Given the description of an element on the screen output the (x, y) to click on. 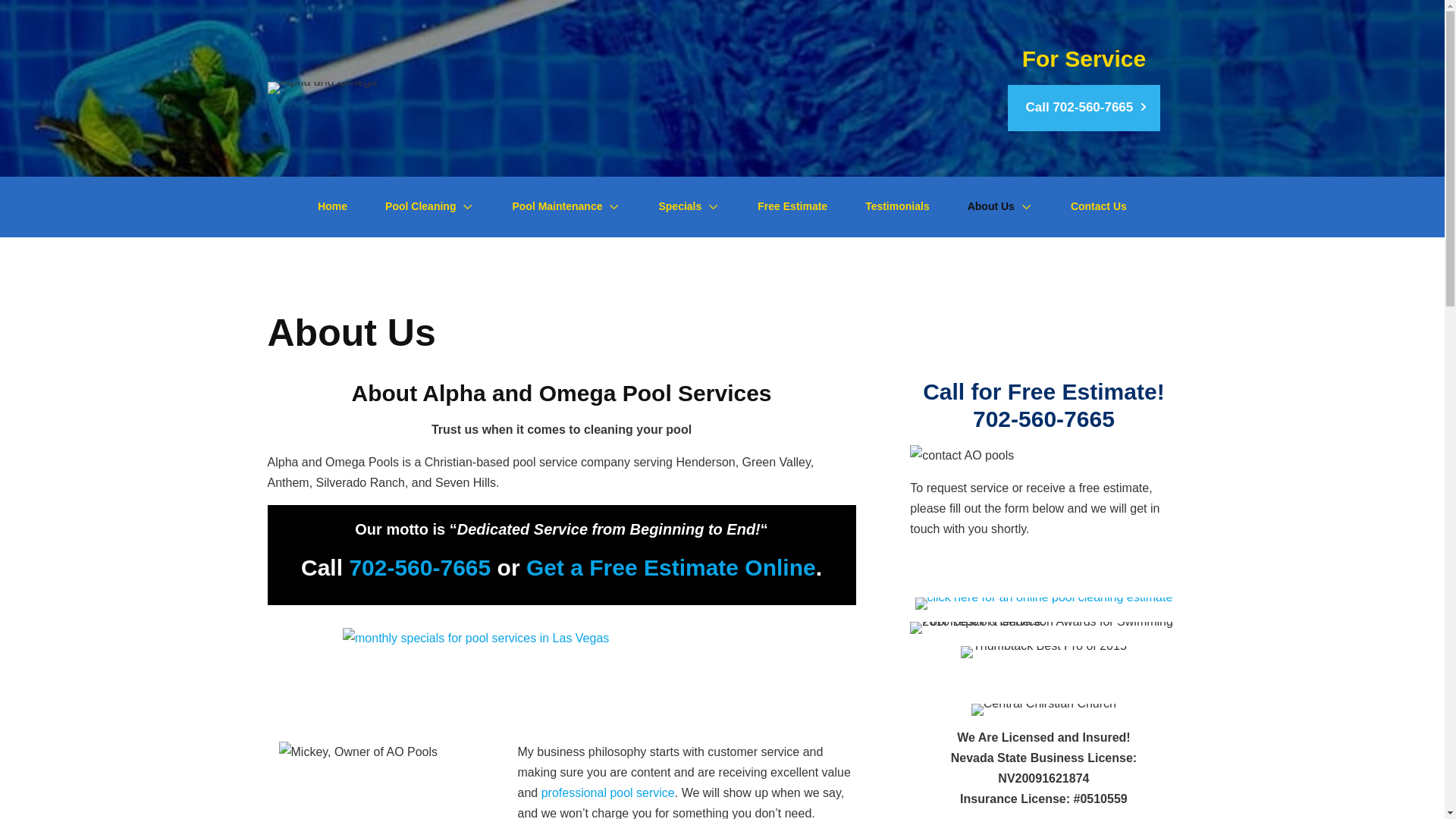
Thumbtack Best Pro of 2015 (1043, 652)
Testimonials (897, 206)
click here for an online pool cleaning estimate (1044, 603)
Alpha and Omega (321, 87)
Central Chirstian Church (1043, 709)
Contact Us (1098, 206)
About Us (1000, 206)
Specials (688, 206)
Pool Cleaning (429, 206)
Home (332, 206)
Pool Maintenance (566, 206)
Free Estimate (791, 206)
Call 702-560-7665 (1083, 108)
